Given the description of an element on the screen output the (x, y) to click on. 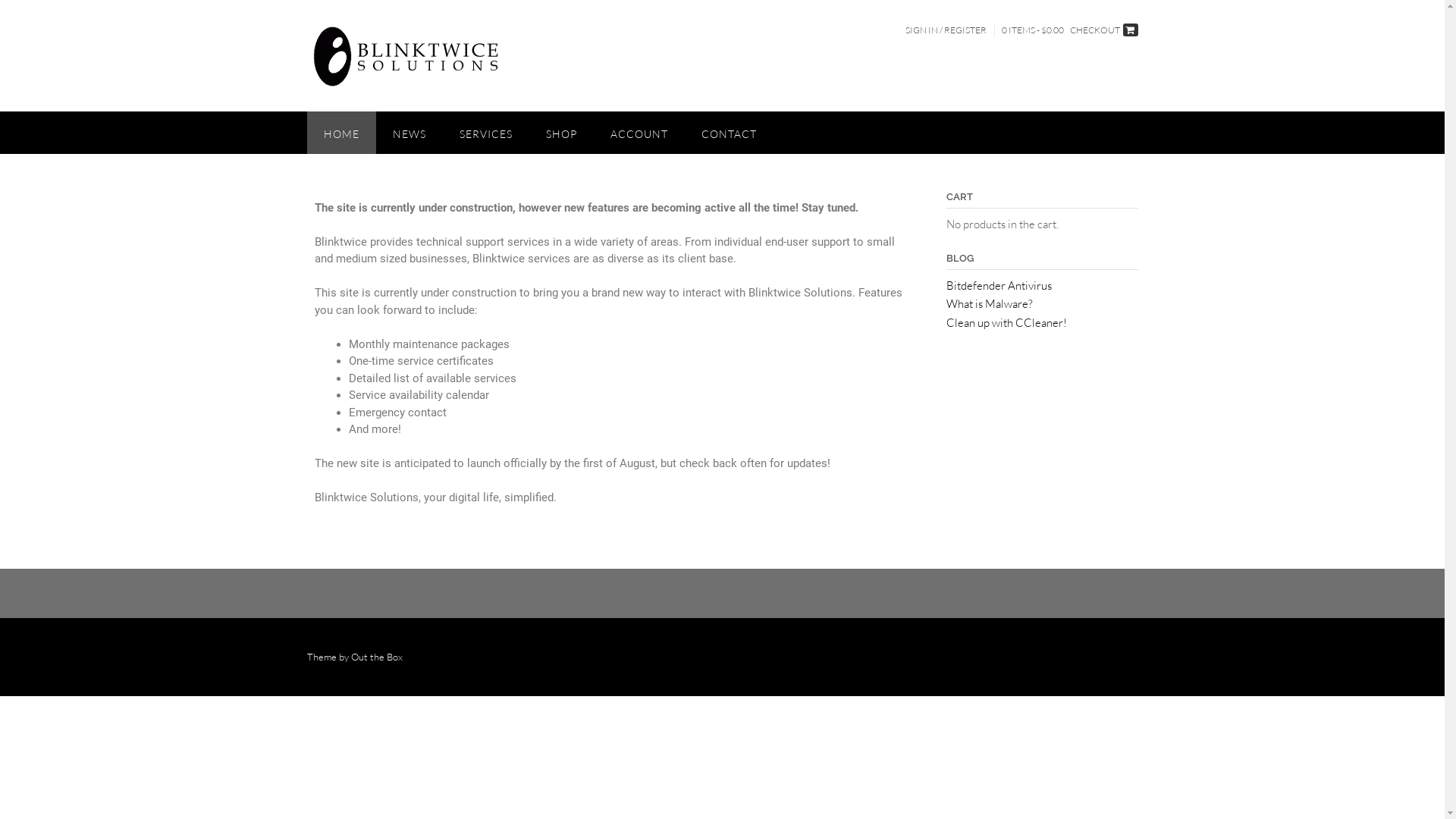
Clean up with CCleaner! Element type: text (1006, 322)
SERVICES Element type: text (485, 132)
Bitdefender Antivirus Element type: text (998, 284)
What is Malware? Element type: text (989, 303)
ACCOUNT Element type: text (638, 132)
SHOP Element type: text (561, 132)
0 ITEMS - $0.00 CHECKOUT Element type: text (1069, 29)
Out the Box Element type: text (375, 656)
HOME Element type: text (340, 132)
NEWS Element type: text (409, 132)
SIGN IN / REGISTER Element type: text (944, 29)
CONTACT Element type: text (728, 132)
